Given the description of an element on the screen output the (x, y) to click on. 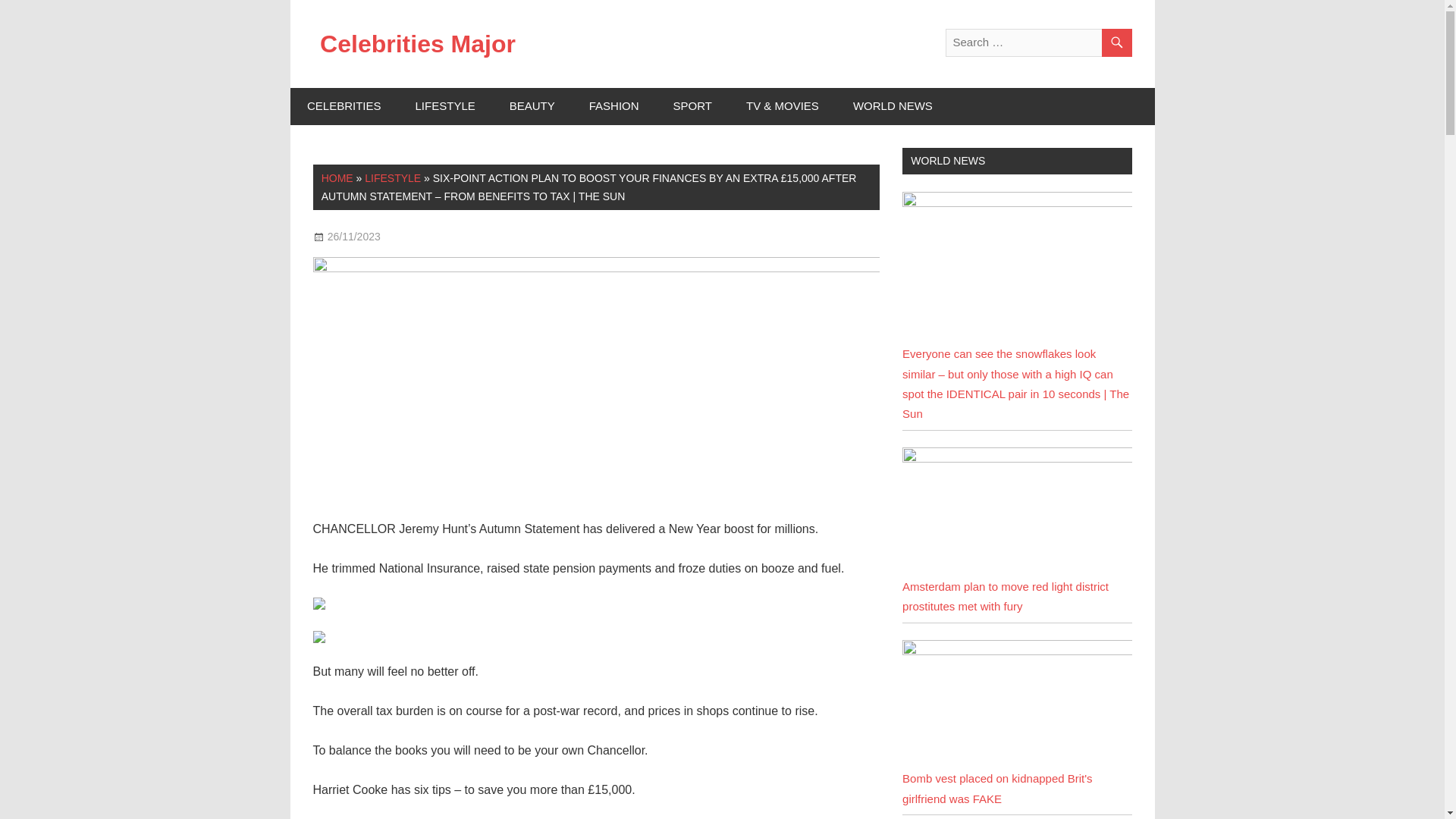
SPORT (692, 106)
Bomb vest placed on kidnapped Brit's girlfriend was FAKE (997, 788)
FASHION (614, 106)
Bomb vest placed on kidnapped Brit's girlfriend was FAKE (1016, 650)
Lifestyle (427, 236)
Search for: (1037, 42)
CELEBRITIES (343, 106)
BEAUTY (532, 106)
HOME (337, 177)
Celebrities Major (417, 43)
WORLD NEWS (892, 106)
LIFESTYLE (392, 177)
